Given the description of an element on the screen output the (x, y) to click on. 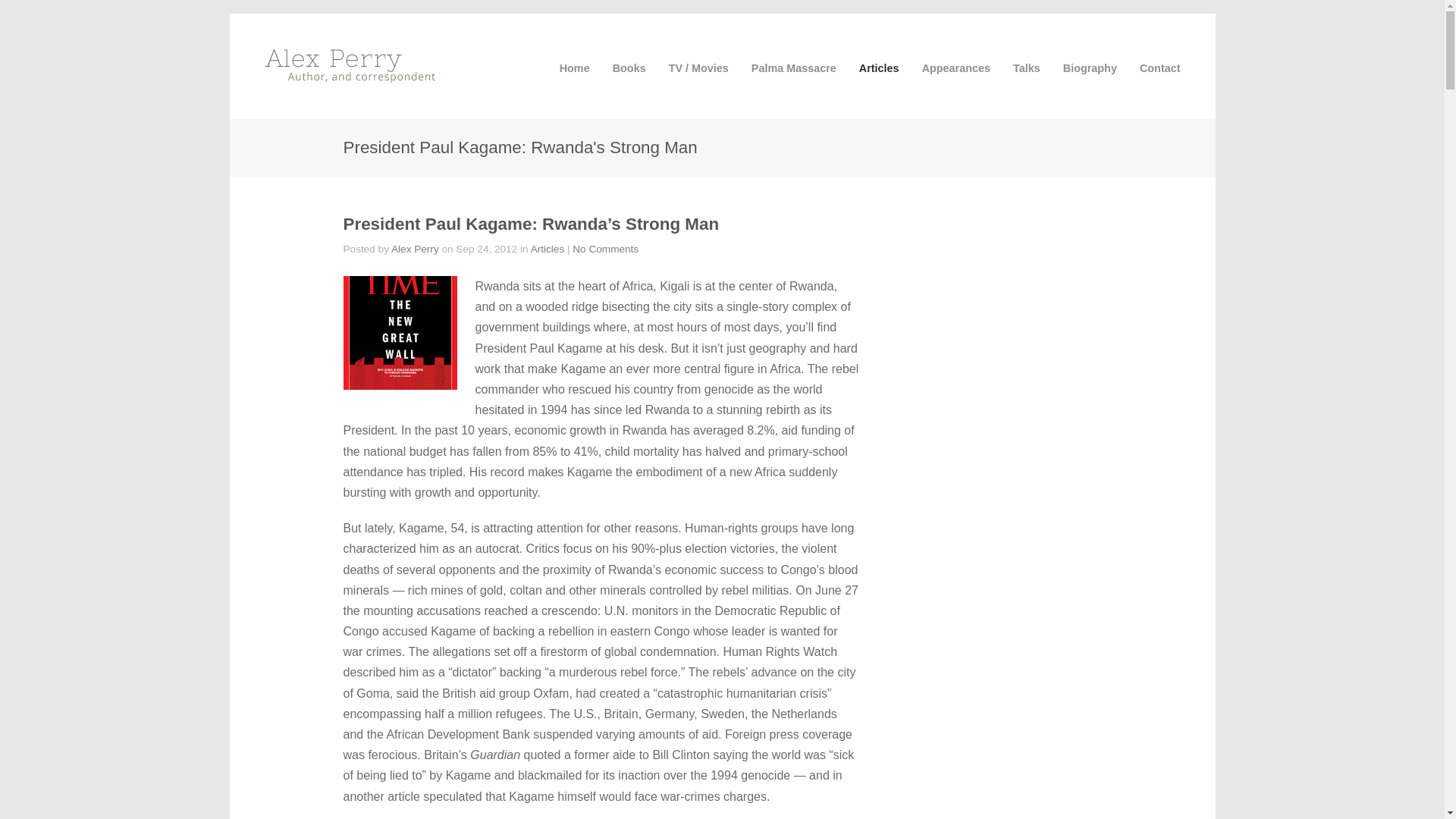
Articles (879, 67)
Alex Perry (415, 248)
No Comments (605, 248)
Articles (547, 248)
Posts by Alex Perry (415, 248)
Contact (1160, 67)
Biography (1089, 67)
Palma Massacre (793, 67)
Appearances (955, 67)
Home (574, 67)
Talks (1027, 67)
Books (629, 67)
